Given the description of an element on the screen output the (x, y) to click on. 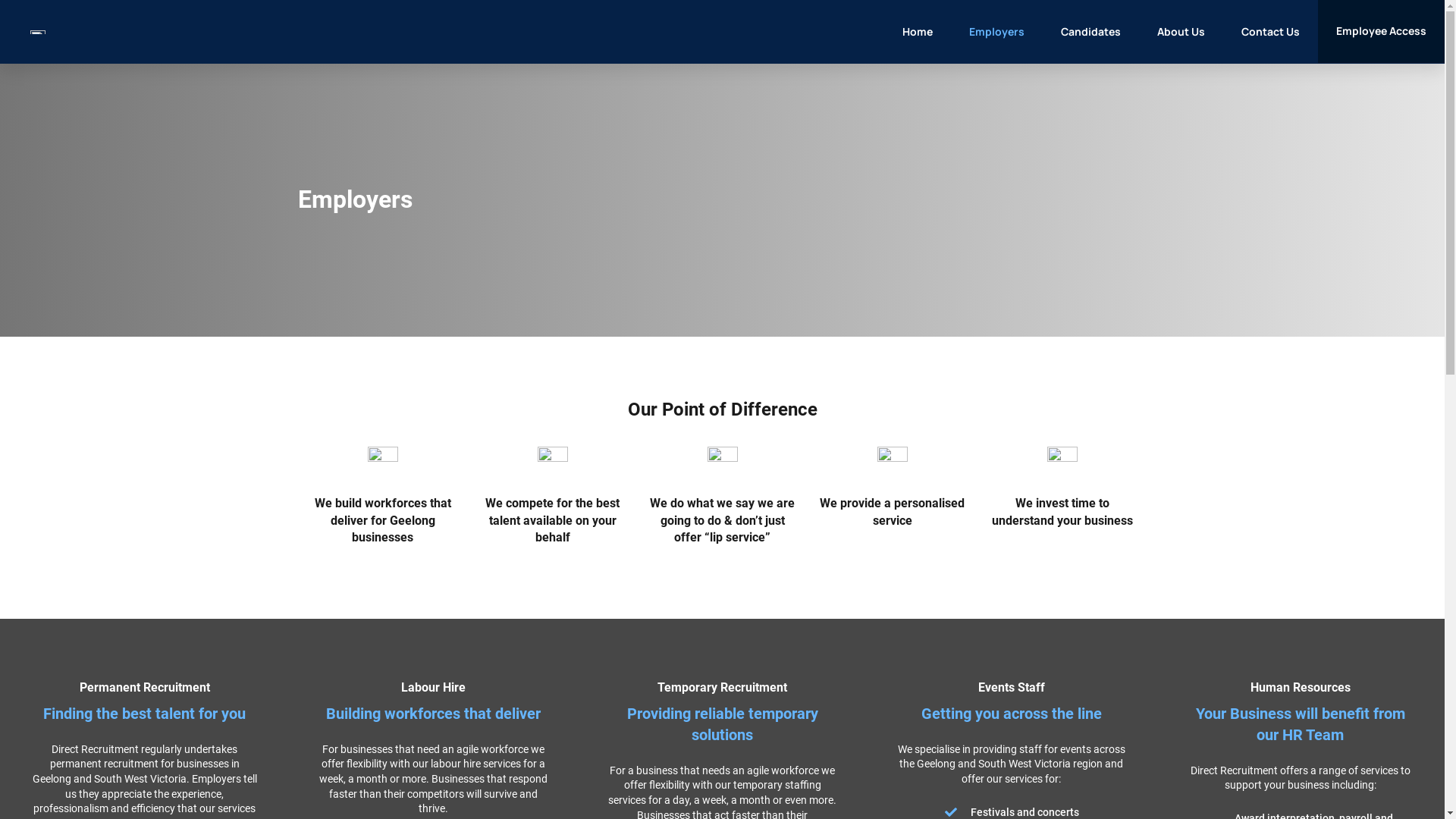
Contact Us Element type: text (1270, 31)
Employee Access Element type: text (1380, 31)
Candidates Element type: text (1090, 31)
About Us Element type: text (1181, 31)
Home Element type: text (917, 31)
Employers Element type: text (996, 31)
